Given the description of an element on the screen output the (x, y) to click on. 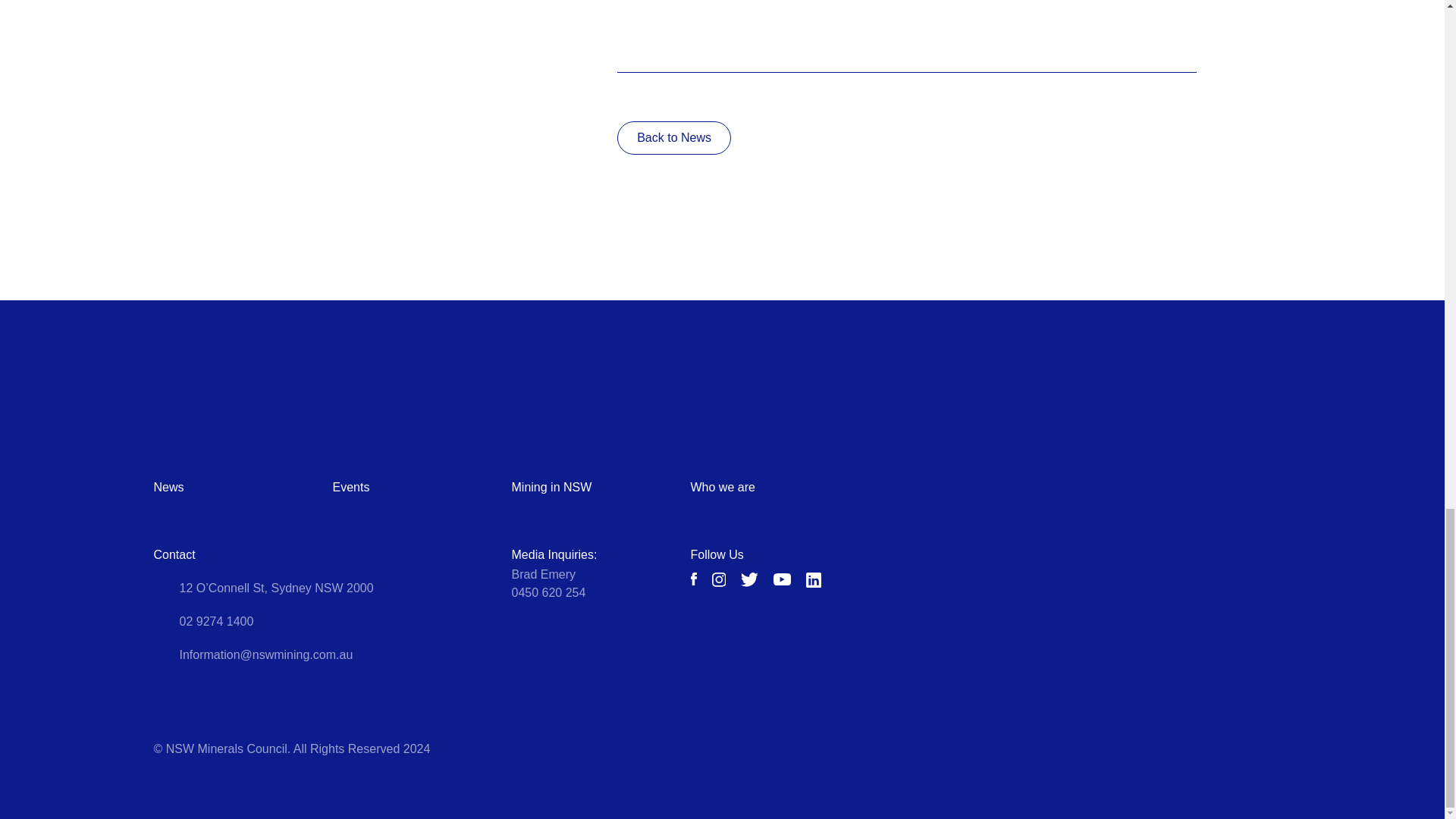
News (167, 487)
Back to News (673, 137)
Events (350, 487)
